Given the description of an element on the screen output the (x, y) to click on. 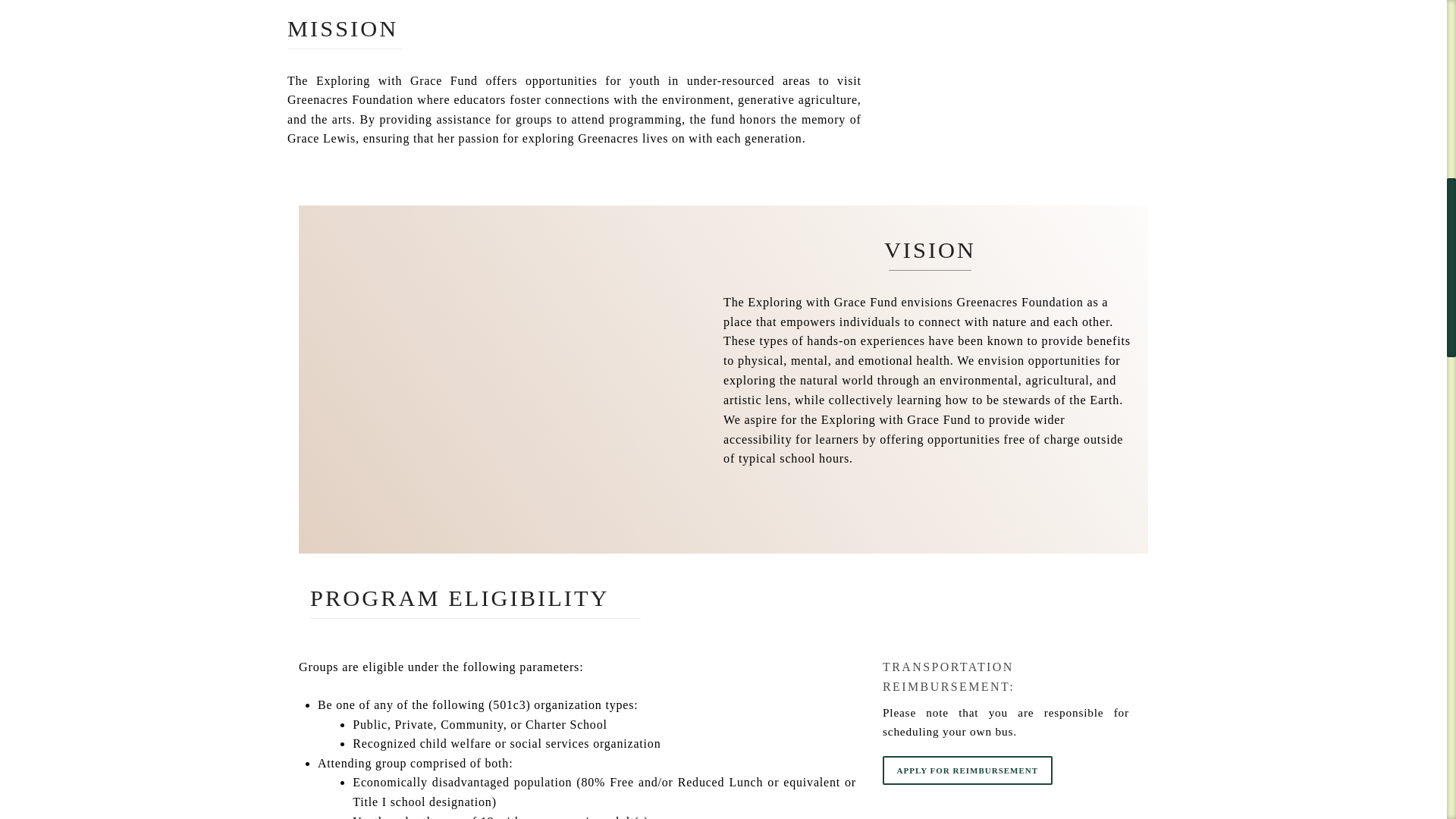
ExploringwithGrace (1028, 107)
Go to top (1408, 22)
OutdoorAdventures1 (503, 379)
